Given the description of an element on the screen output the (x, y) to click on. 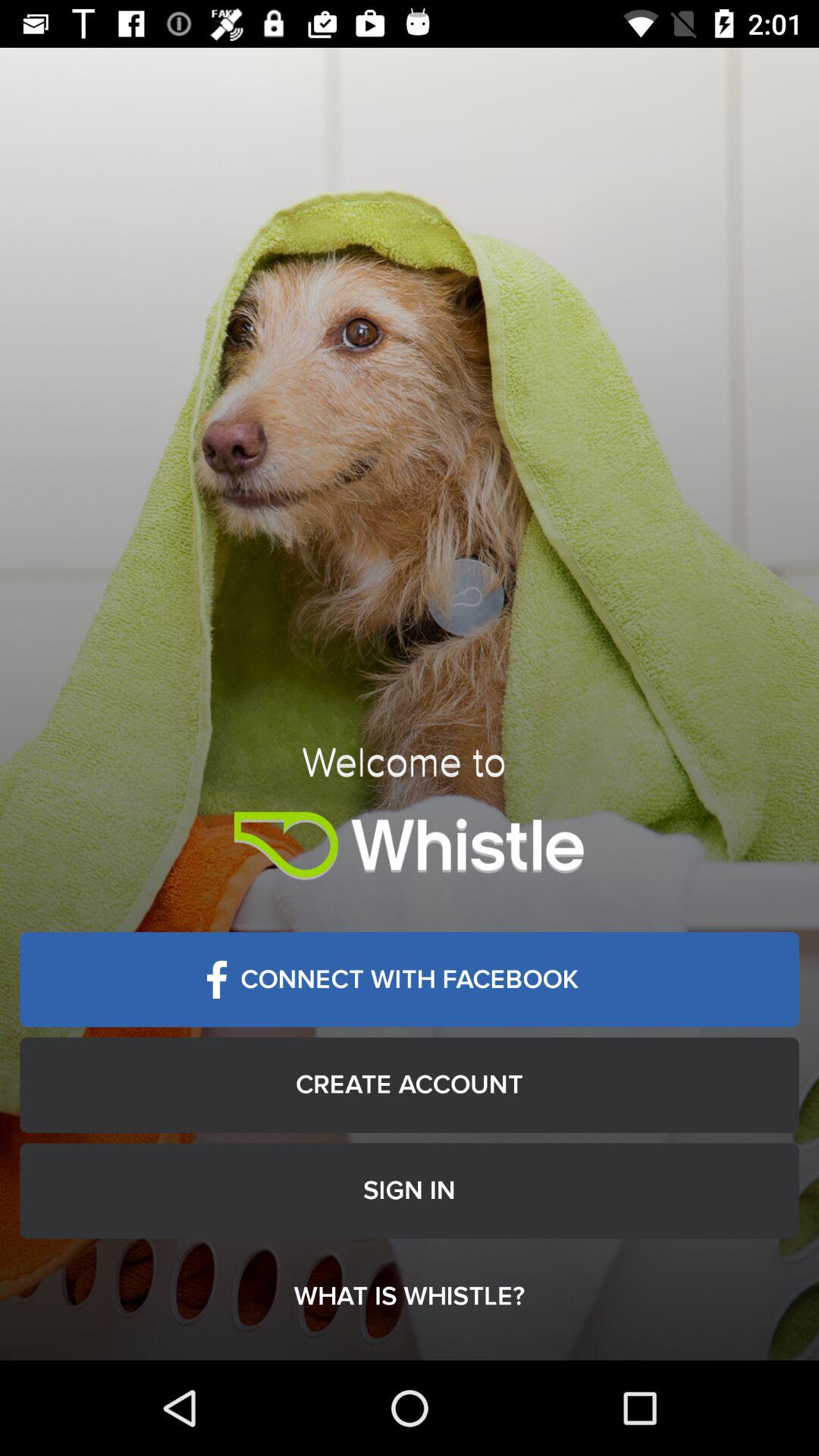
choose the item above sign in icon (409, 1084)
